Given the description of an element on the screen output the (x, y) to click on. 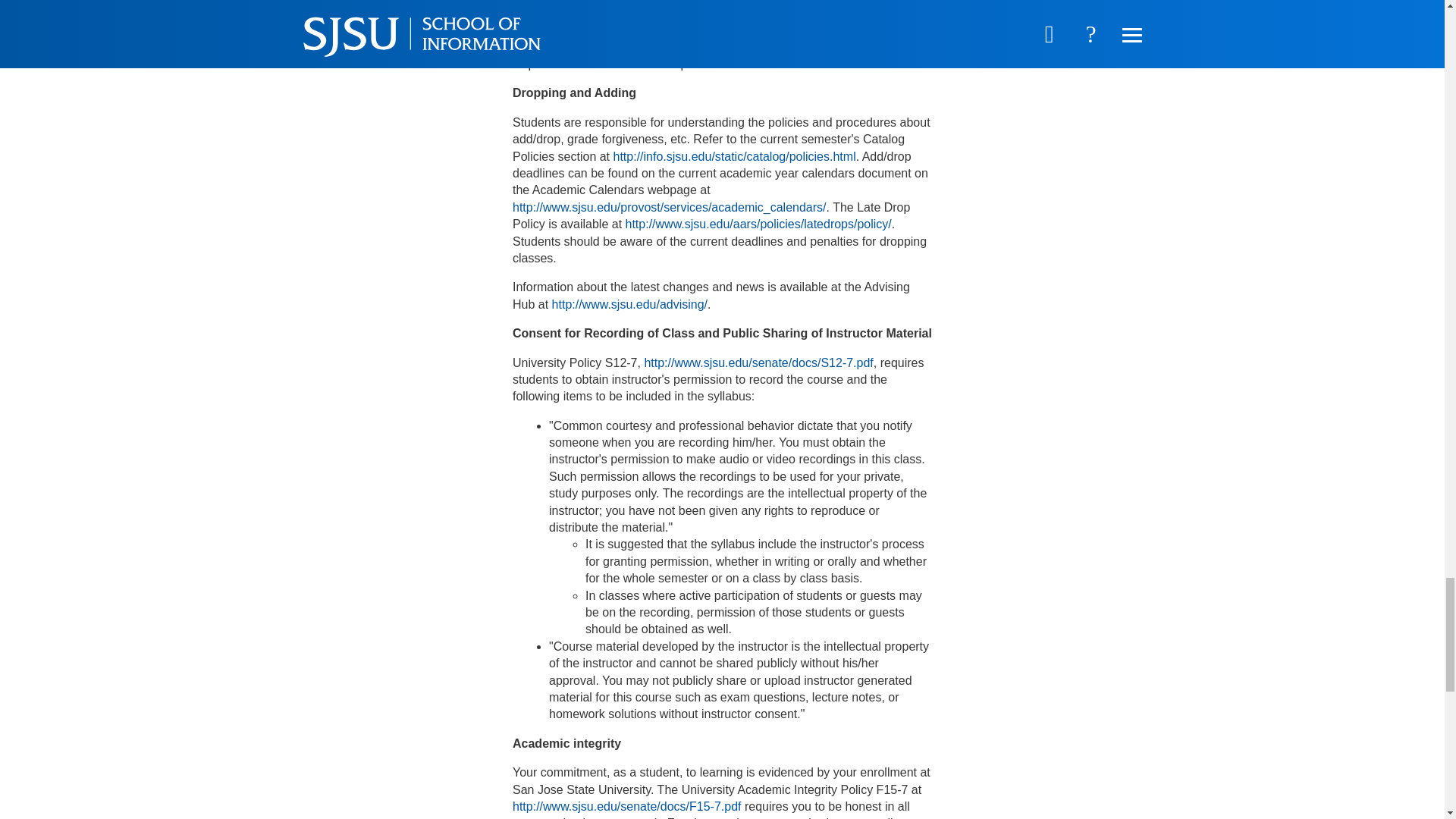
University Calendar (669, 206)
University Policy Course Recording (757, 362)
University Policy Adds Drops Grades (734, 155)
University Advising (629, 304)
University Policy Late Drops (758, 223)
University Policy Academic Integrity (626, 806)
